Given the description of an element on the screen output the (x, y) to click on. 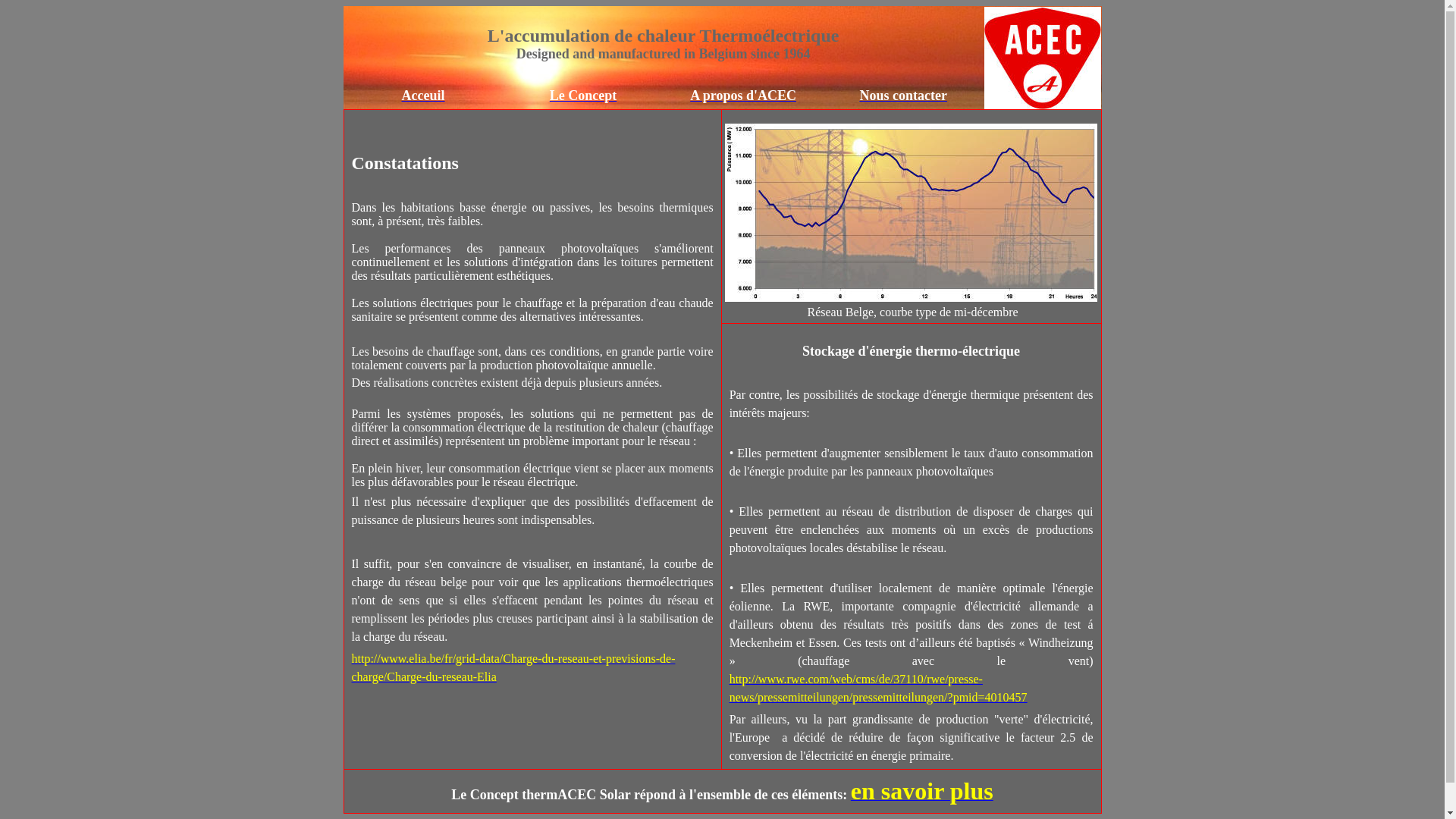
en savoir plus Element type: text (921, 794)
Acceuil Element type: text (423, 95)
Nous contacter Element type: text (902, 95)
A propos d'ACEC Element type: text (743, 95)
Le Concept Element type: text (583, 95)
